Given the description of an element on the screen output the (x, y) to click on. 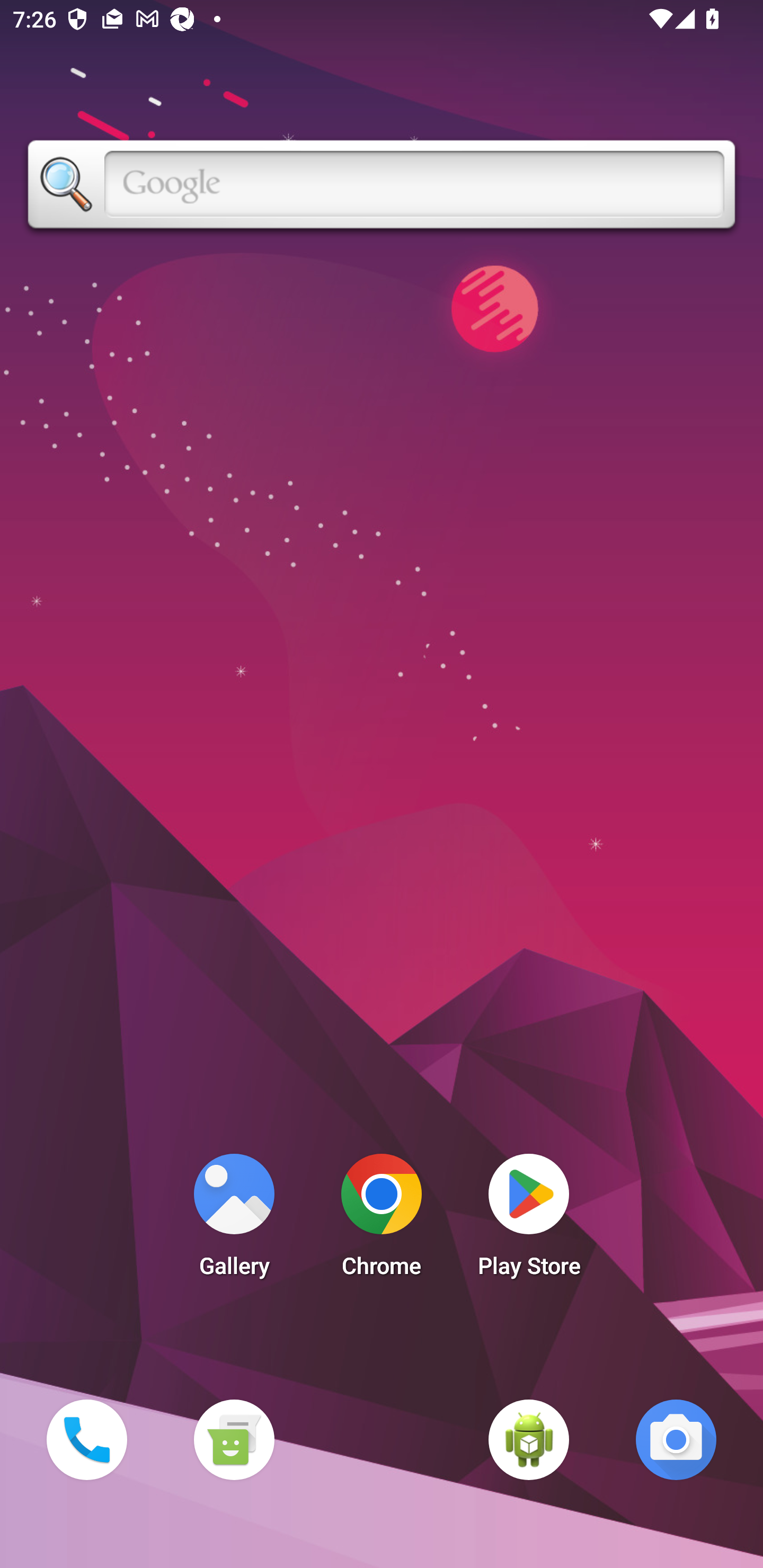
Gallery (233, 1220)
Chrome (381, 1220)
Play Store (528, 1220)
Phone (86, 1439)
Messaging (233, 1439)
WebView Browser Tester (528, 1439)
Camera (676, 1439)
